Given the description of an element on the screen output the (x, y) to click on. 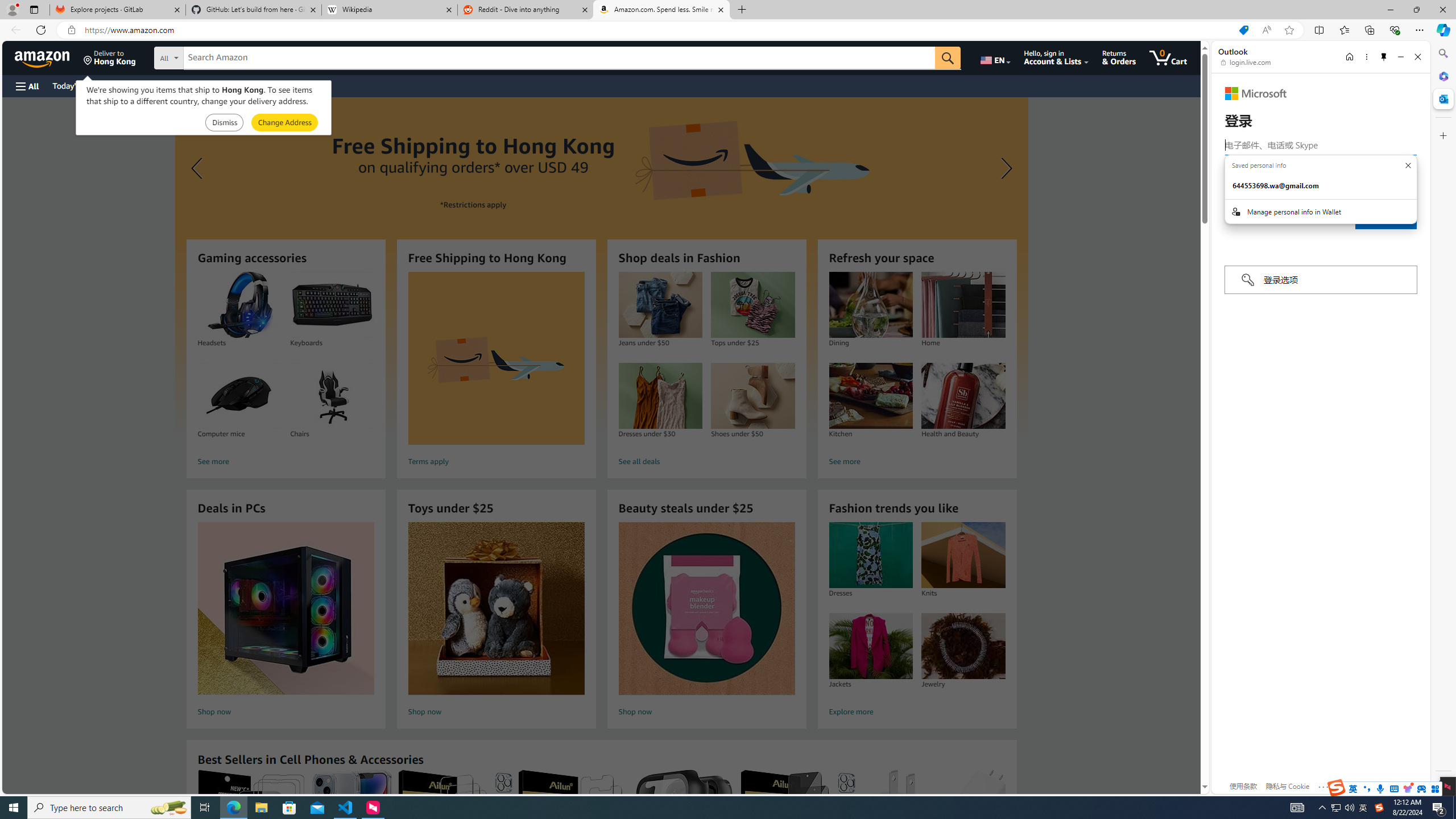
Free Shipping to Hong Kong Learn more (600, 267)
Dresses under $30 (659, 395)
Health and Beauty (963, 395)
0 items in cart (1168, 57)
Keyboards (331, 304)
Customer Service (145, 85)
